Given the description of an element on the screen output the (x, y) to click on. 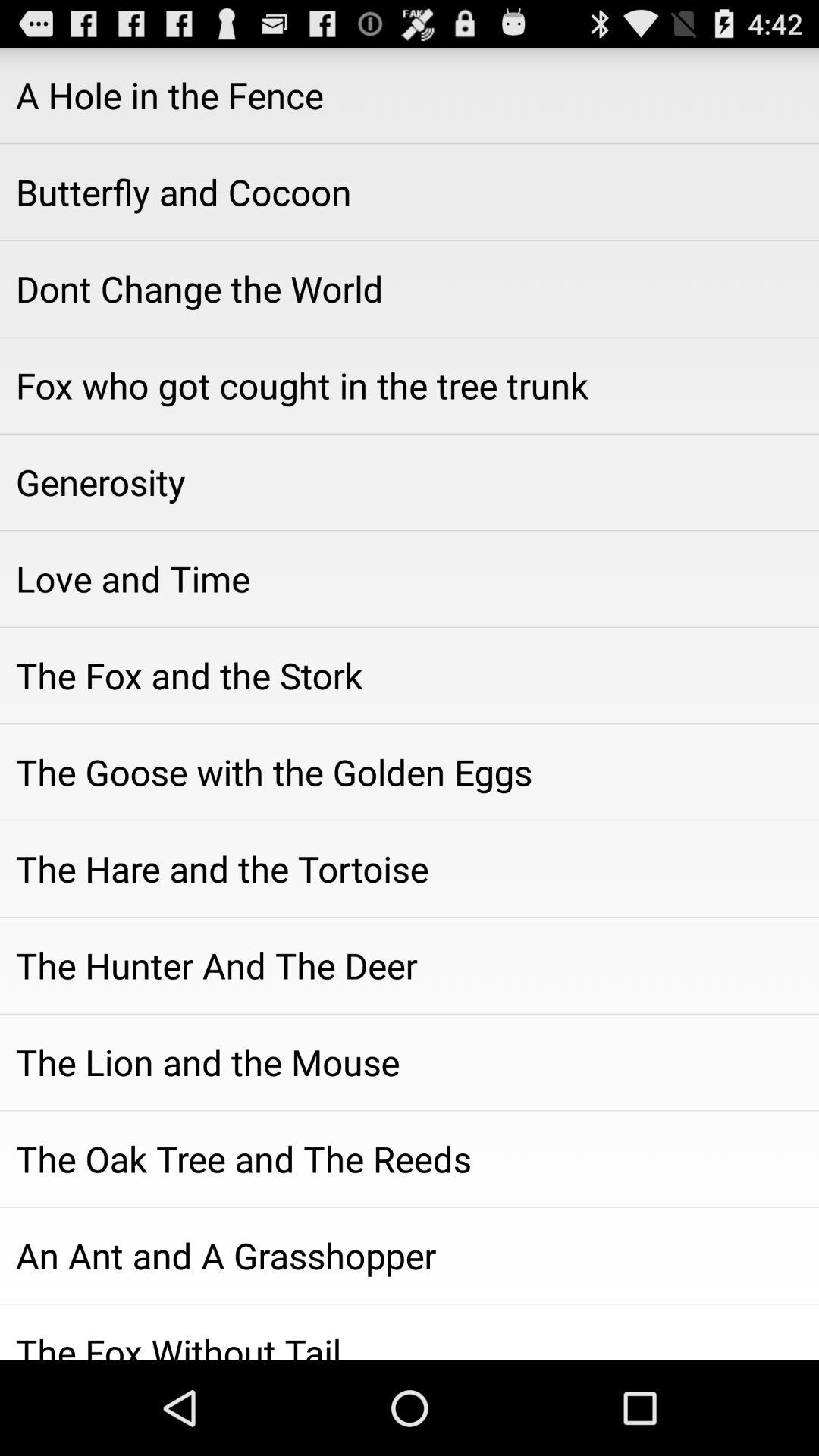
jump to the dont change the item (409, 288)
